Given the description of an element on the screen output the (x, y) to click on. 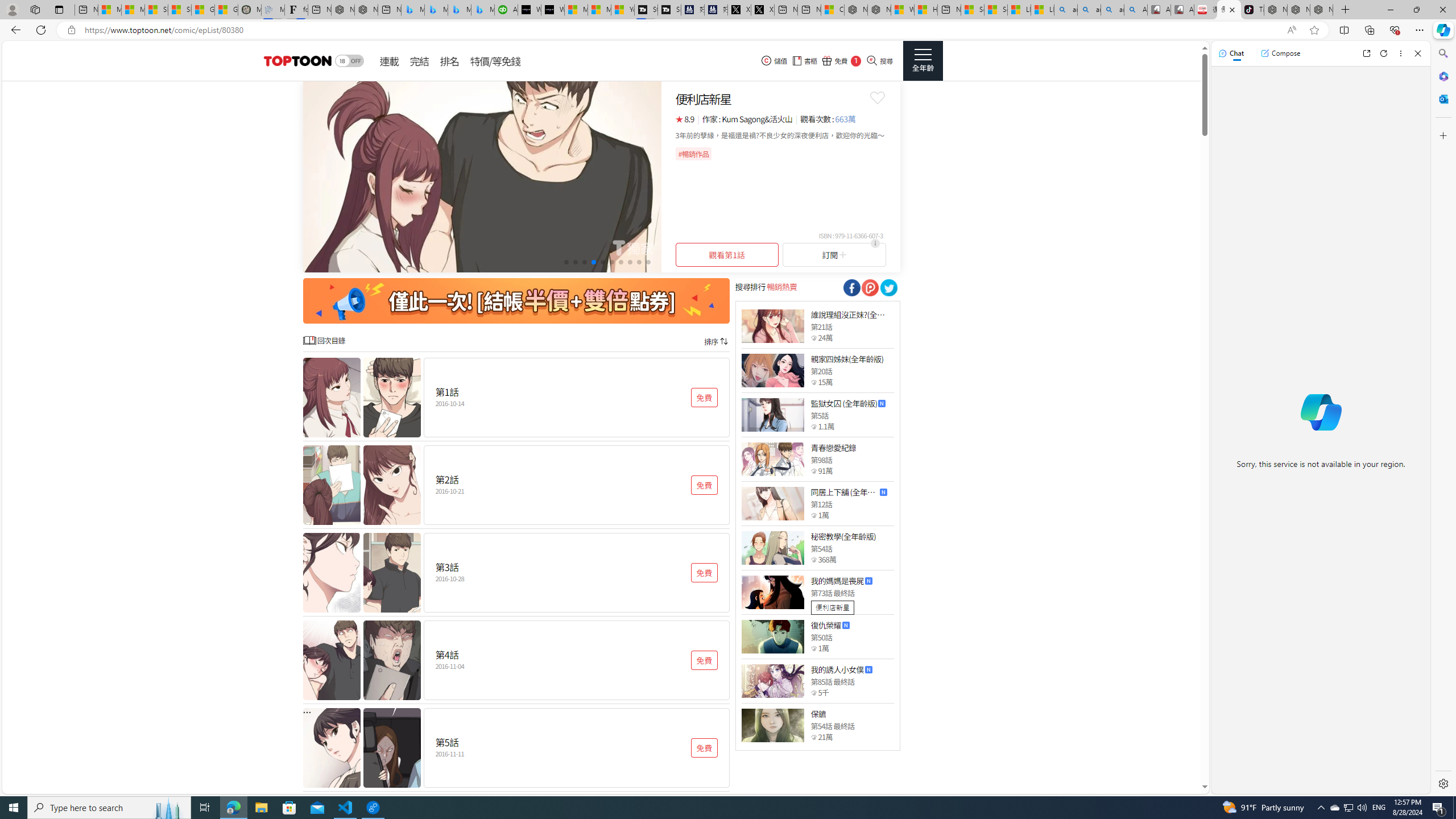
Accounting Software for Accountants, CPAs and Bookkeepers (505, 9)
Nordace - Siena Pro 15 Essential Set (1321, 9)
header (295, 60)
Class: swiper-slide swiper-slide-duplicate (481, 176)
Class:  switch_18mode actionAdultBtn (349, 60)
